Given the description of an element on the screen output the (x, y) to click on. 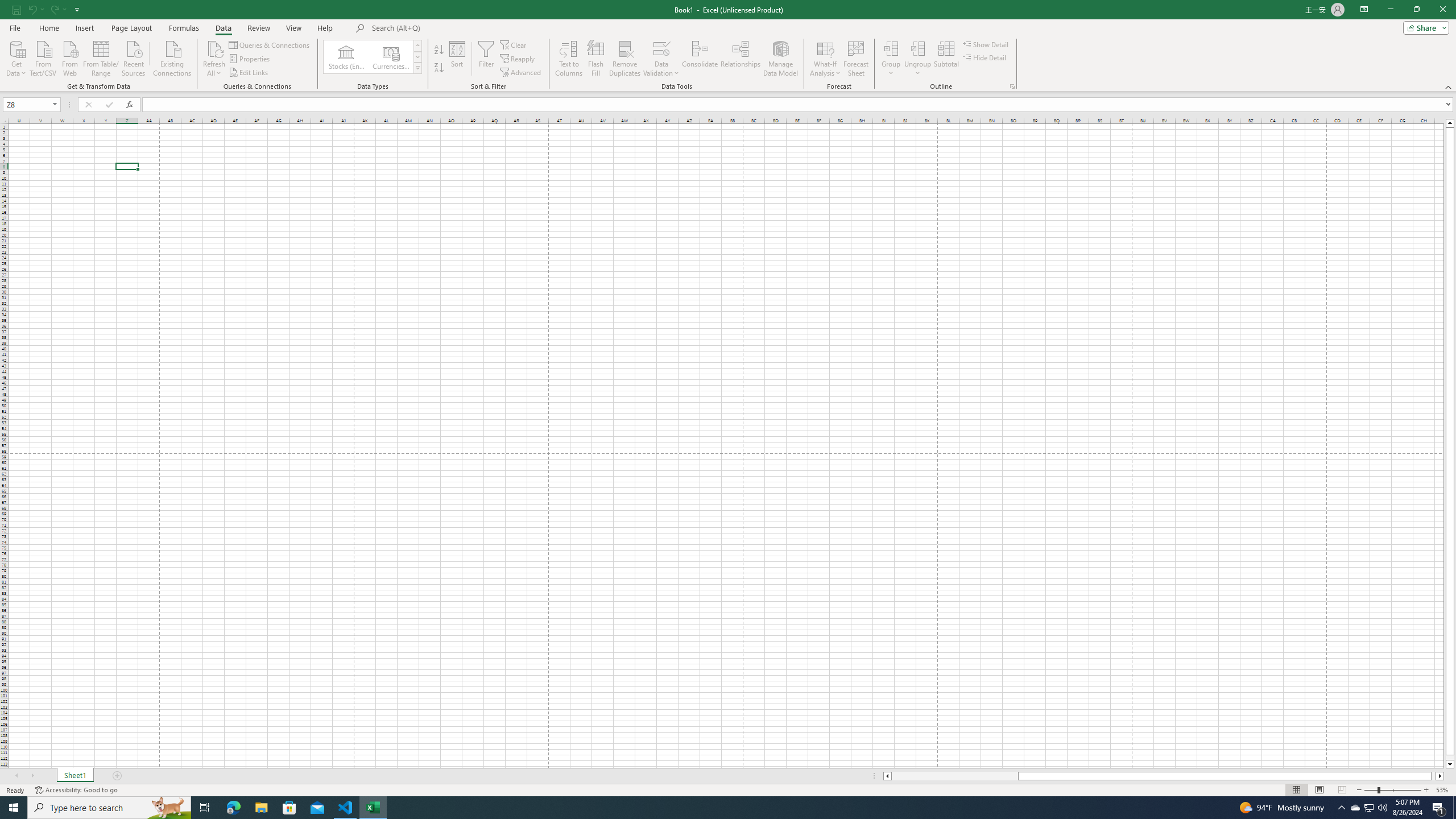
Remove Duplicates (625, 58)
